Given the description of an element on the screen output the (x, y) to click on. 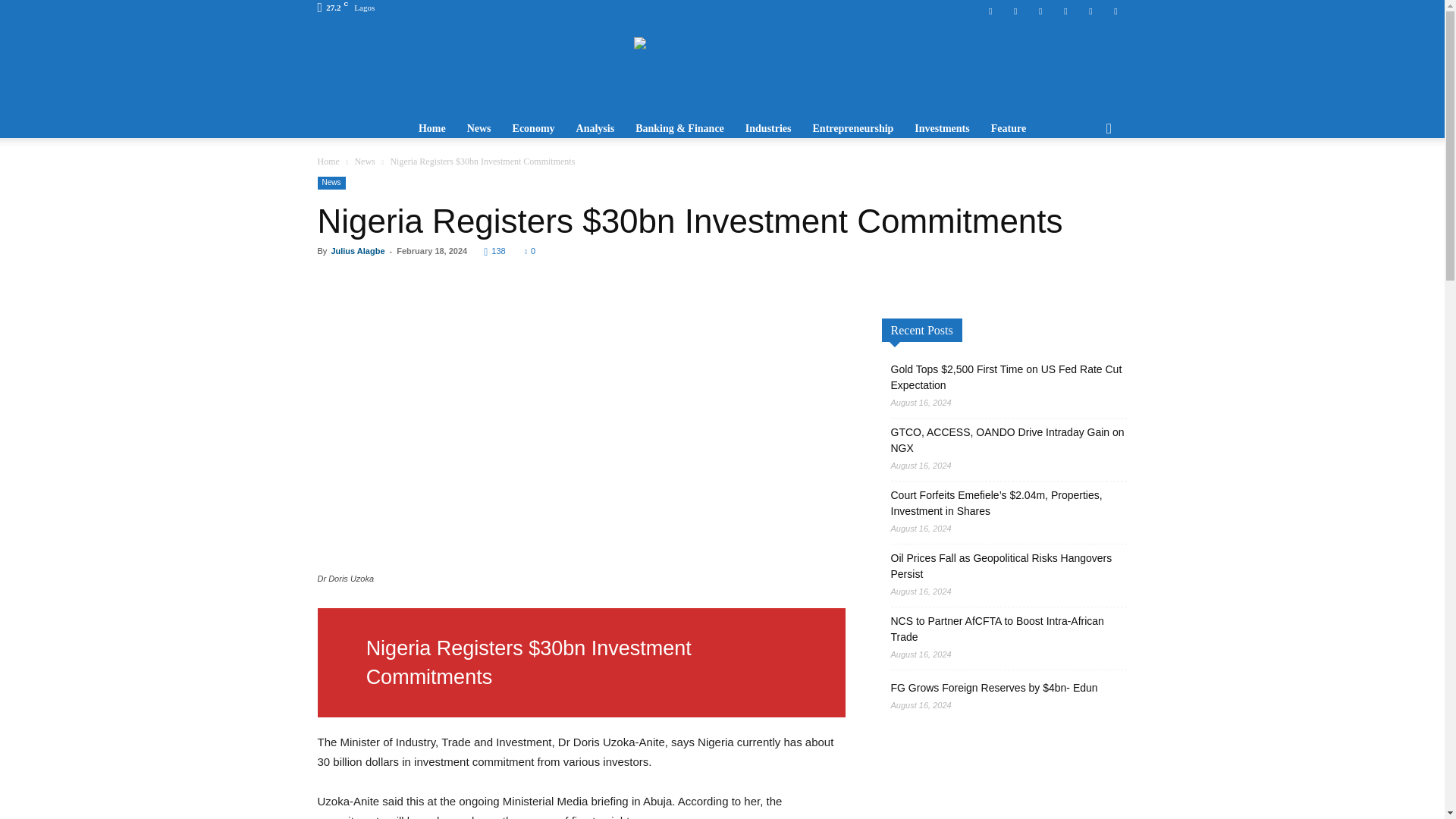
Home (432, 128)
Entrepreneurship (853, 128)
Economy (534, 128)
Industries (768, 128)
Twitter (1090, 11)
Feature (1007, 128)
Analysis (596, 128)
Search (1085, 180)
Investments (941, 128)
Behance (989, 11)
